Given the description of an element on the screen output the (x, y) to click on. 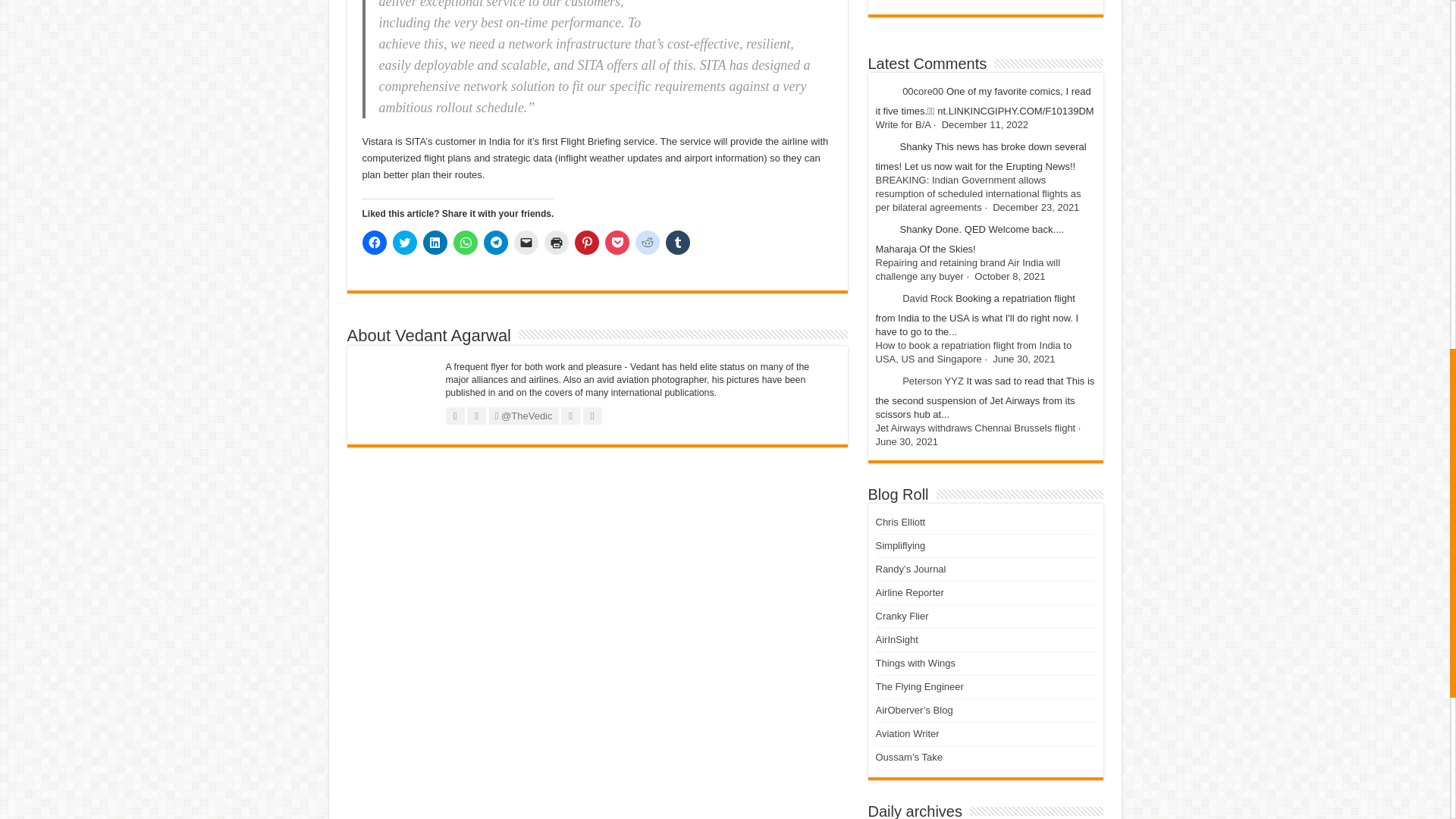
Click to share on Pinterest (586, 242)
Click to share on Facebook (374, 242)
Click to share on Tumblr (677, 242)
Click to share on LinkedIn (434, 242)
Click to share on WhatsApp (464, 242)
Click to share on Pocket (616, 242)
Click to email a link to a friend (525, 242)
Click to share on Twitter (404, 242)
Click to share on Reddit (646, 242)
Click to share on Telegram (495, 242)
